Given the description of an element on the screen output the (x, y) to click on. 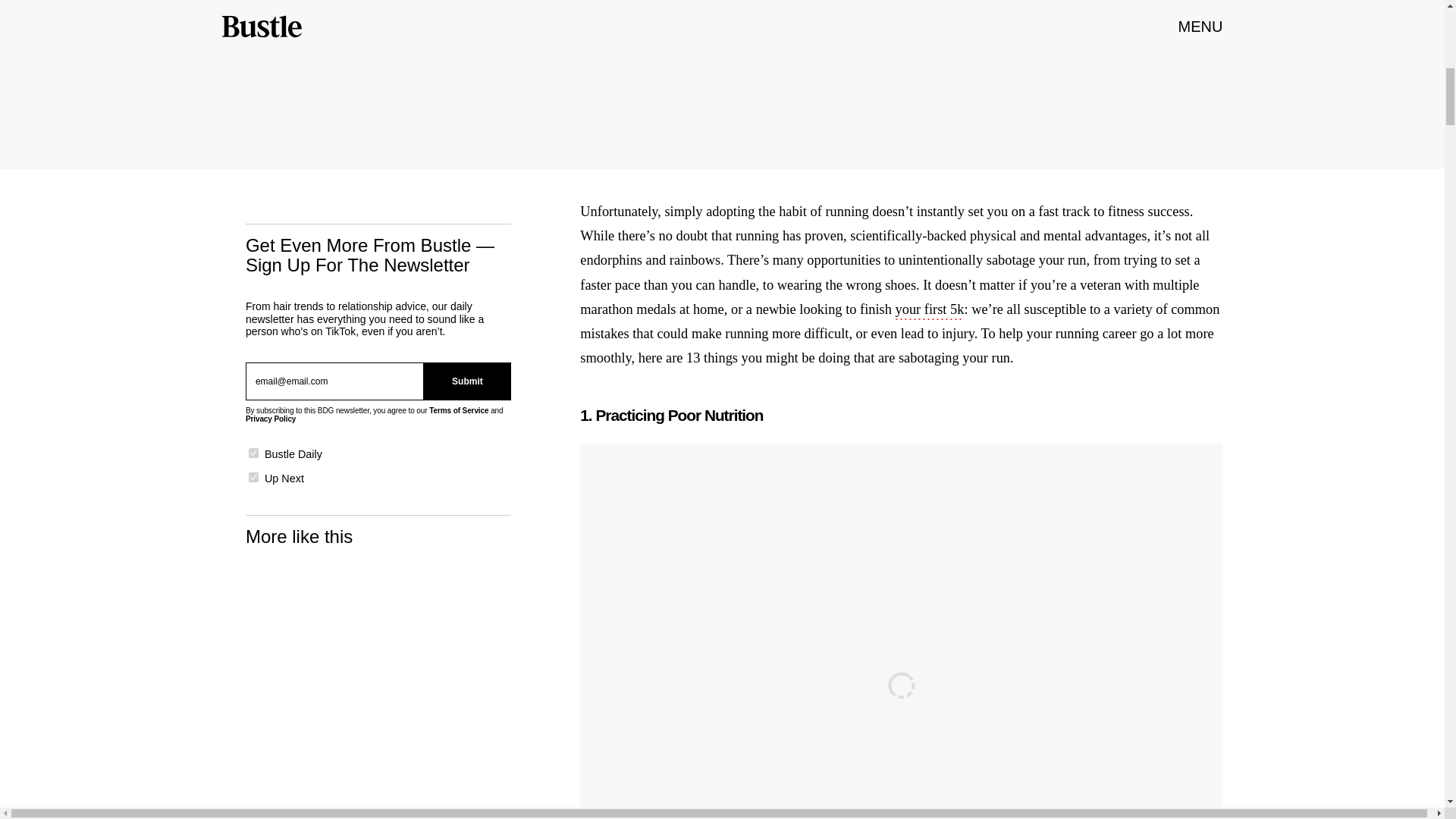
Privacy Policy (270, 418)
Terms of Service (458, 410)
your first 5k (929, 311)
Submit (467, 381)
